Given the description of an element on the screen output the (x, y) to click on. 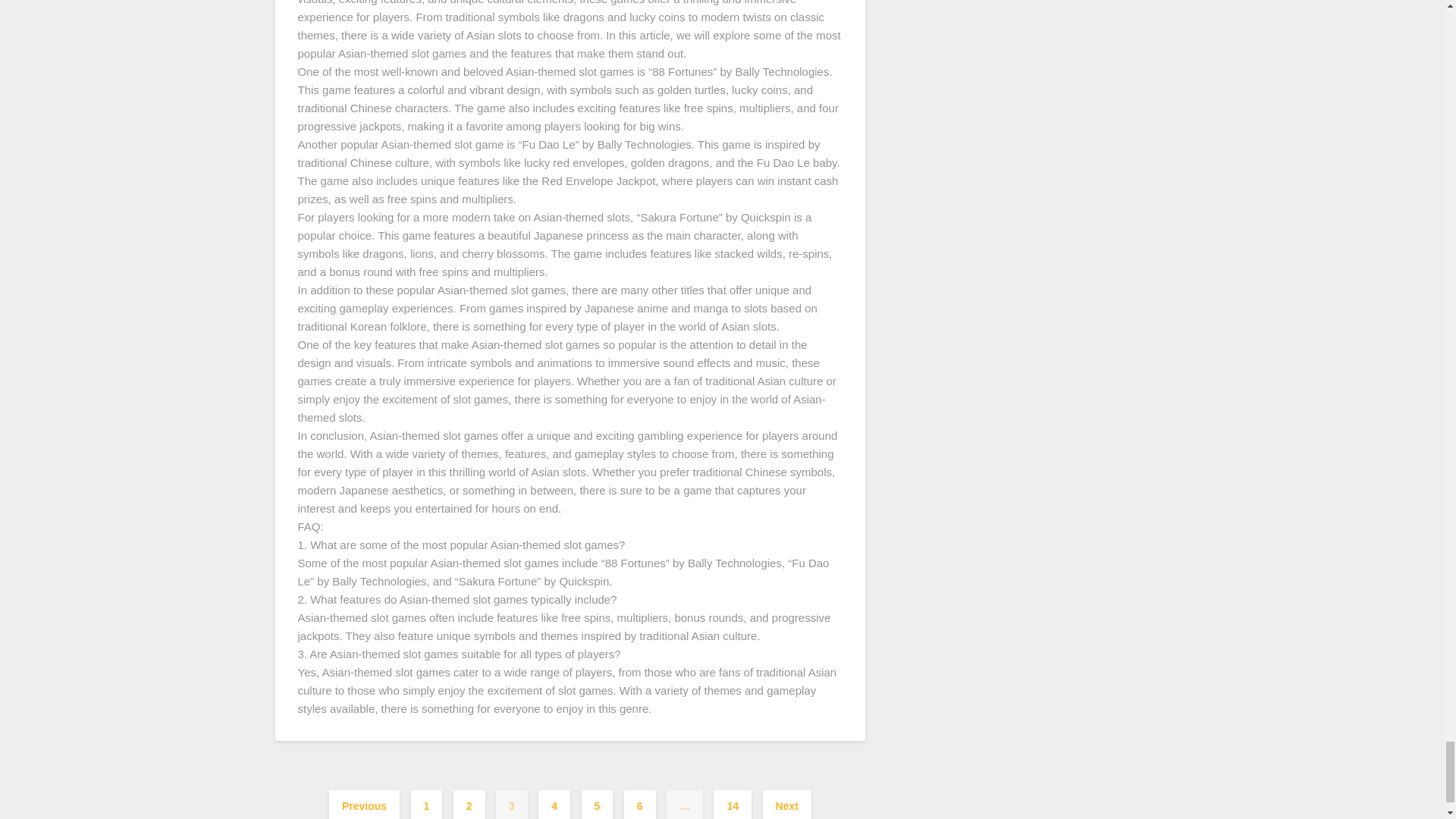
1 (426, 804)
Next (786, 804)
14 (732, 804)
4 (554, 804)
Previous (363, 804)
6 (640, 804)
5 (596, 804)
2 (468, 804)
